Given the description of an element on the screen output the (x, y) to click on. 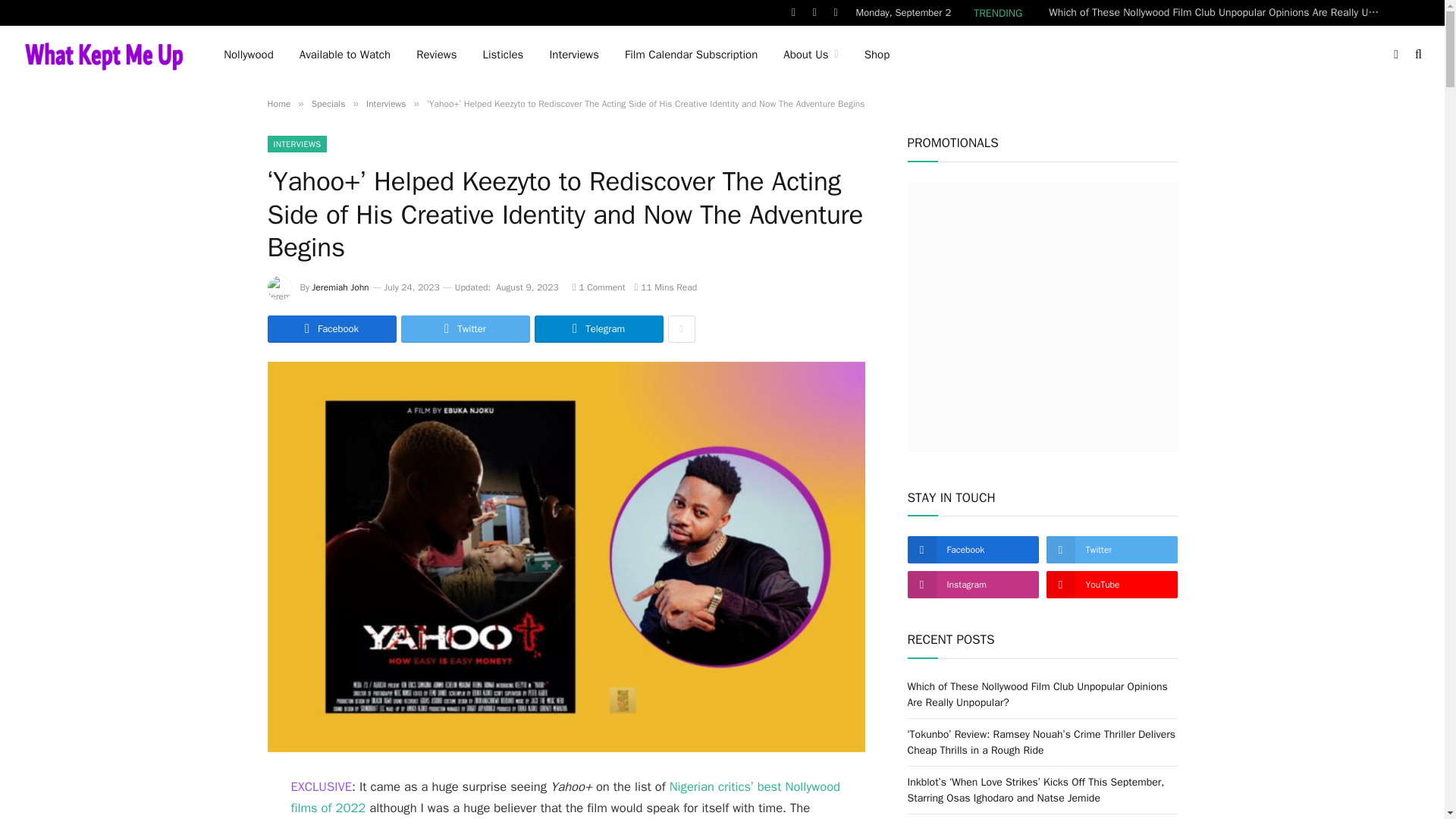
Available to Watch (344, 54)
Home (277, 103)
What Kept Me Up (103, 54)
Nollywood (248, 54)
Interviews (573, 54)
Switch to Dark Design - easier on eyes. (1396, 54)
About Us (810, 54)
Film Calendar Subscription (690, 54)
Specials (328, 103)
Share on Telegram (598, 329)
